Given the description of an element on the screen output the (x, y) to click on. 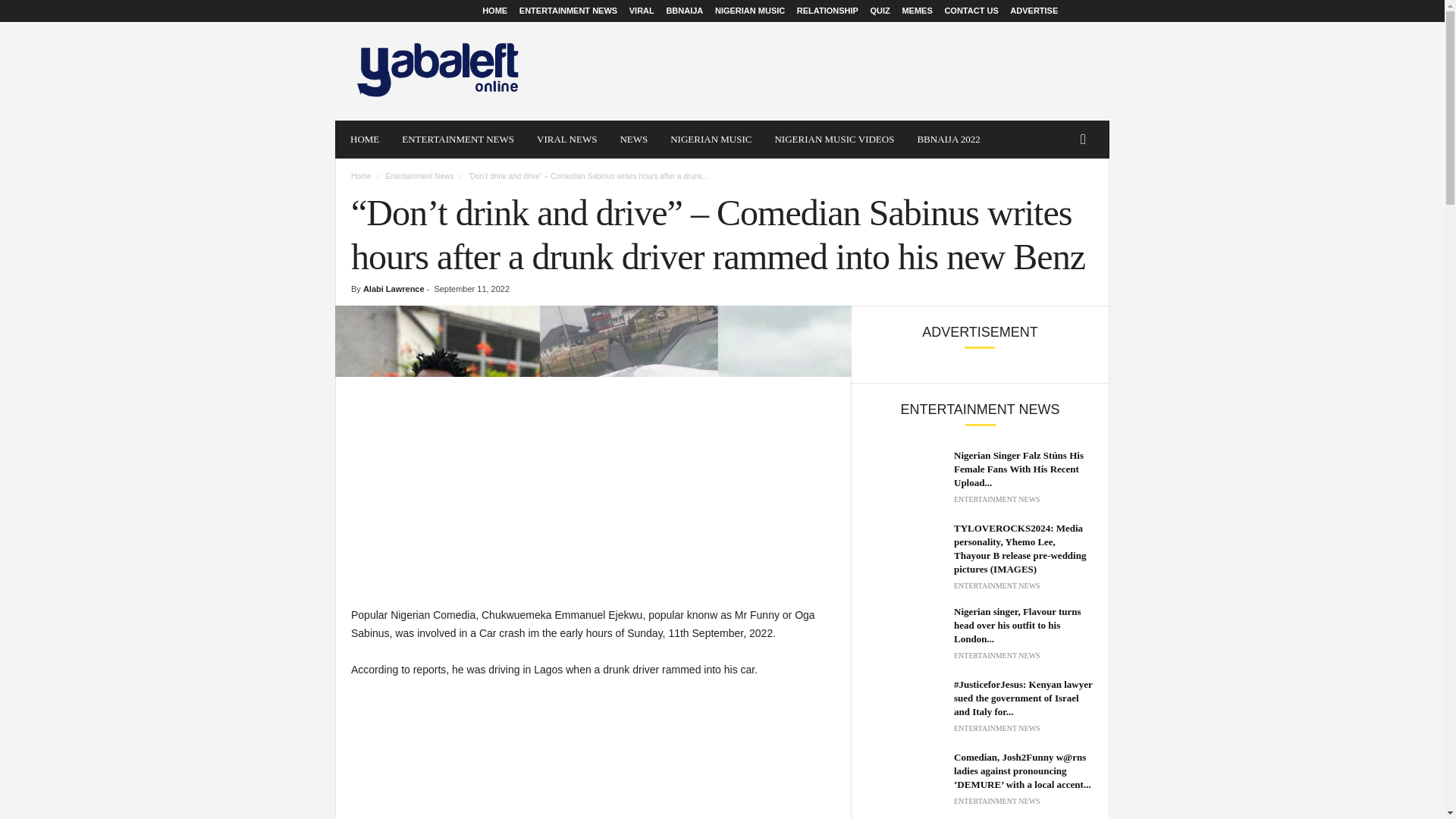
yabaleftonline logo (437, 70)
View all posts in Entertainment News (418, 175)
ENTERTAINMENT NEWS (457, 139)
HOME (493, 10)
QUIZ (879, 10)
YabaLeftOnline (437, 70)
CONTACT US (970, 10)
HOME (364, 139)
VIRAL (640, 10)
NEWS (633, 139)
